Given the description of an element on the screen output the (x, y) to click on. 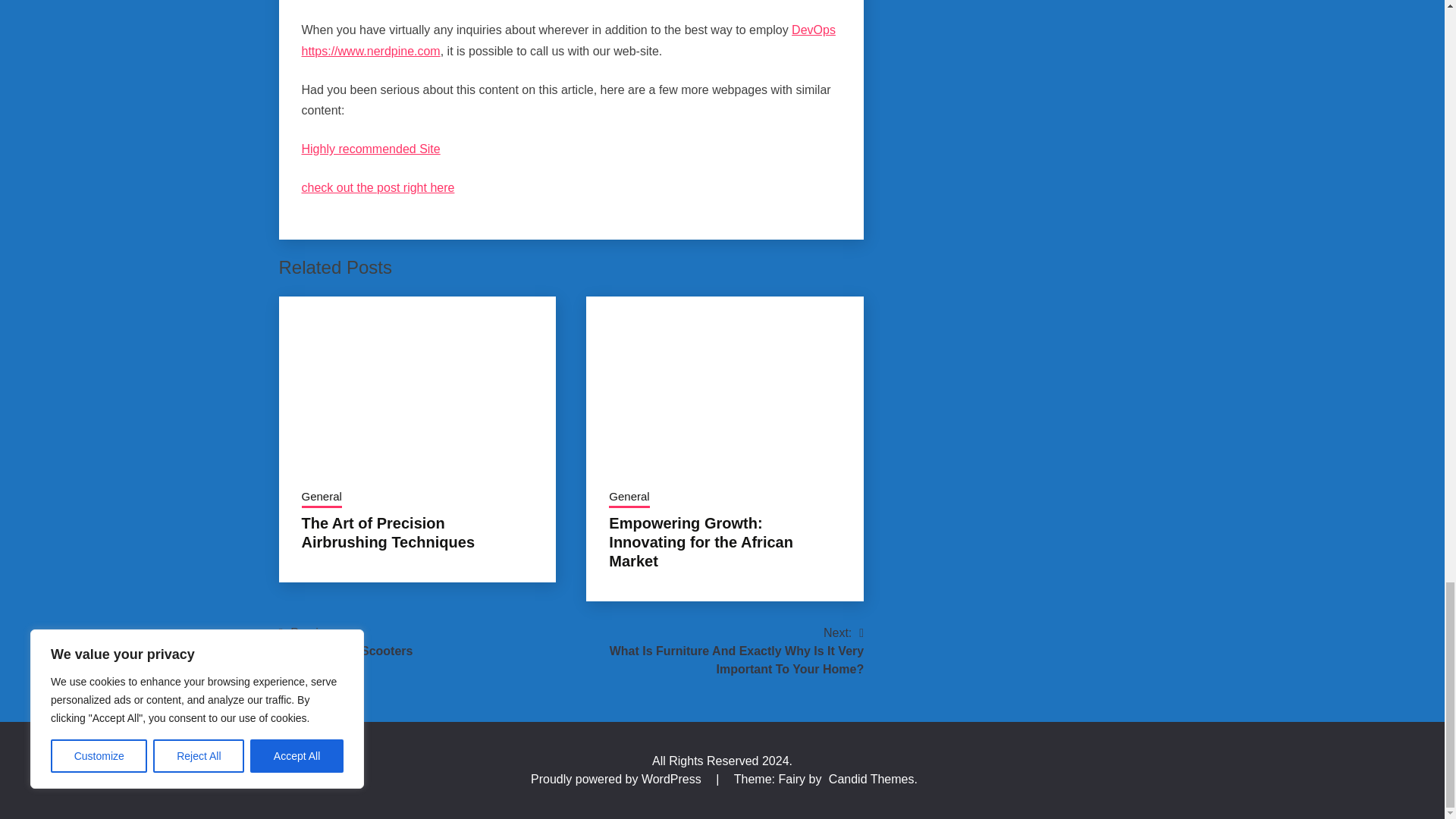
Highly recommended Site (371, 148)
check out the post right here (377, 187)
General (321, 497)
The Art of Precision Airbrushing Techniques (388, 532)
